Given the description of an element on the screen output the (x, y) to click on. 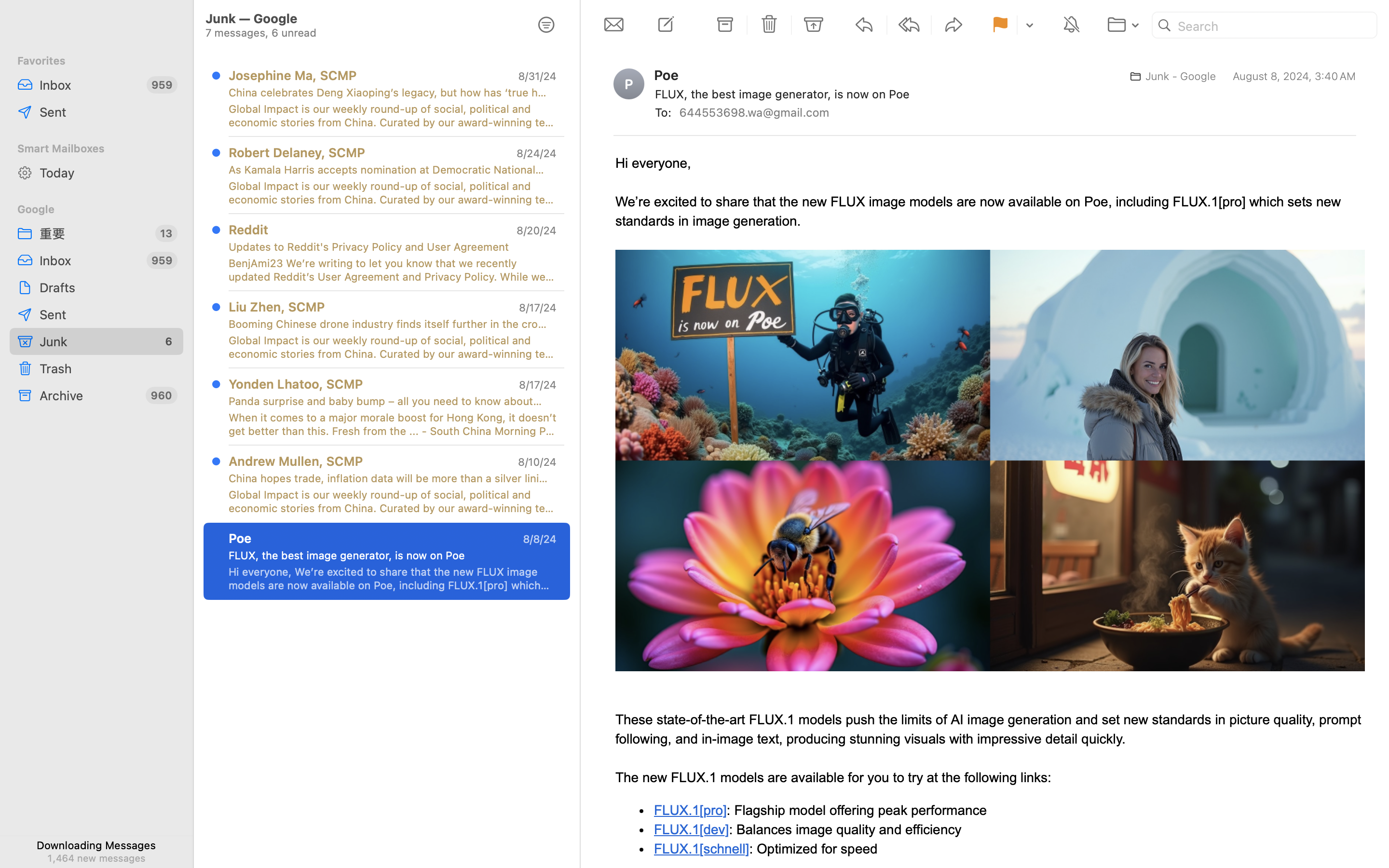
Poe Element type: AXStaticText (670, 74)
重要 Element type: AXTextField (93, 233)
Junk — Google Element type: AXStaticText (360, 800)
China celebrates Deng Xiaoping’s legacy, but how has ‘true heir’ Xi Jinping taken up the reins? Element type: AXStaticText (388, 92)
The new FLUX.1 models are available for you to try at the following links: Element type: AXStaticText (833, 777)
